Given the description of an element on the screen output the (x, y) to click on. 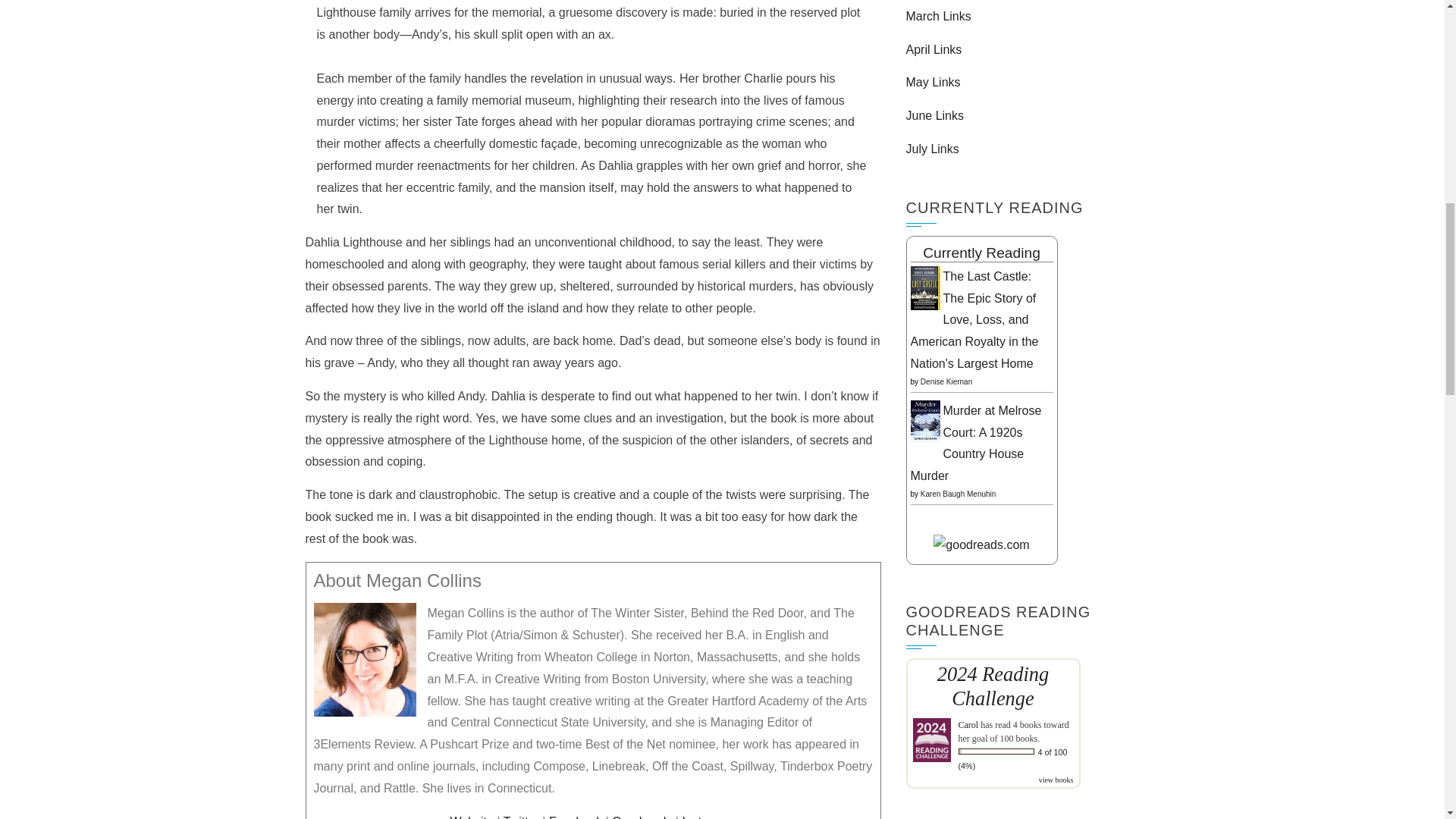
Instagram (708, 816)
Goodreads (641, 816)
Twitter (520, 816)
Facebook (575, 816)
Website (471, 816)
